Given the description of an element on the screen output the (x, y) to click on. 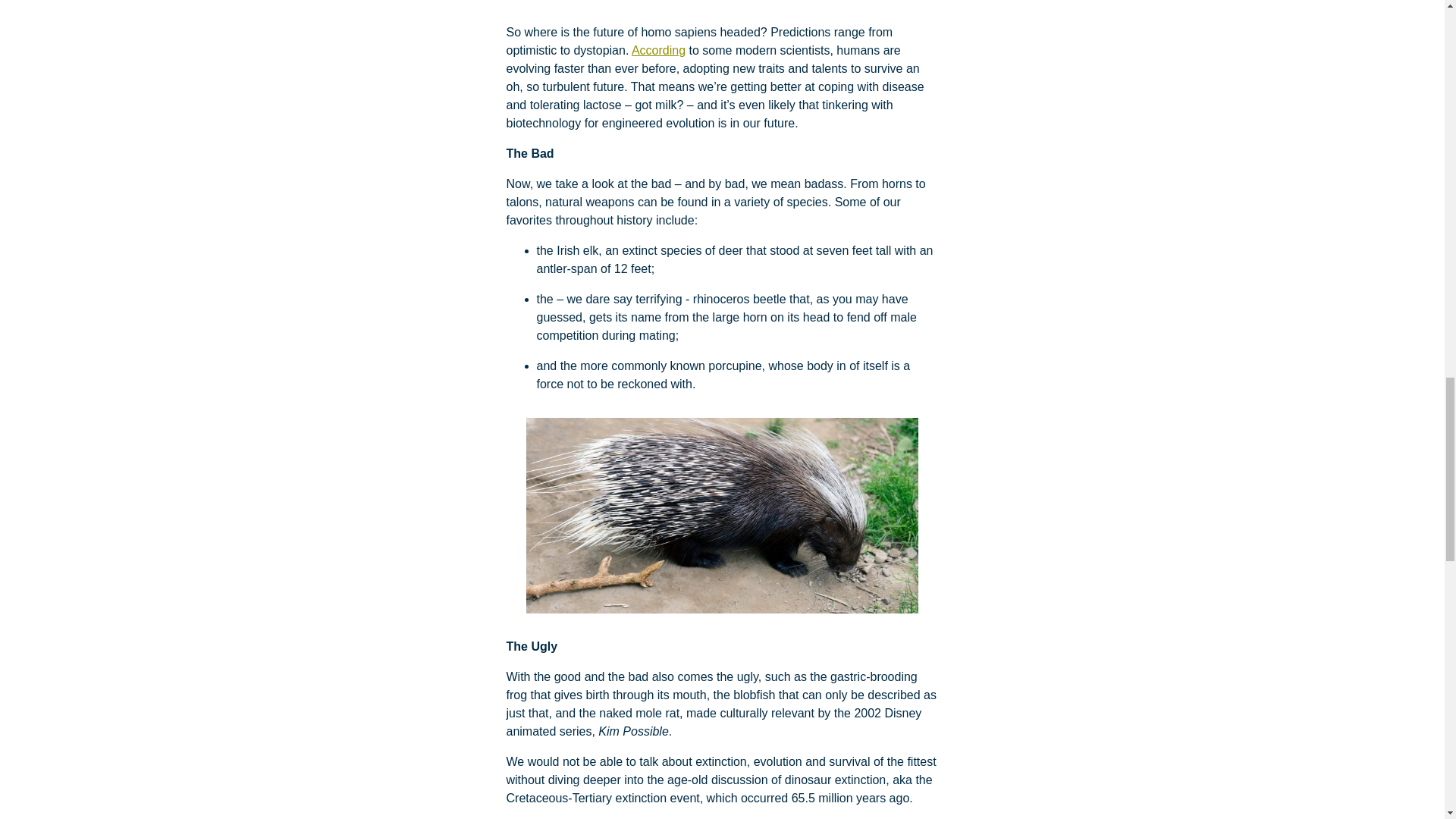
earth.com (721, 515)
britannica.com (721, 5)
According (658, 50)
